Given the description of an element on the screen output the (x, y) to click on. 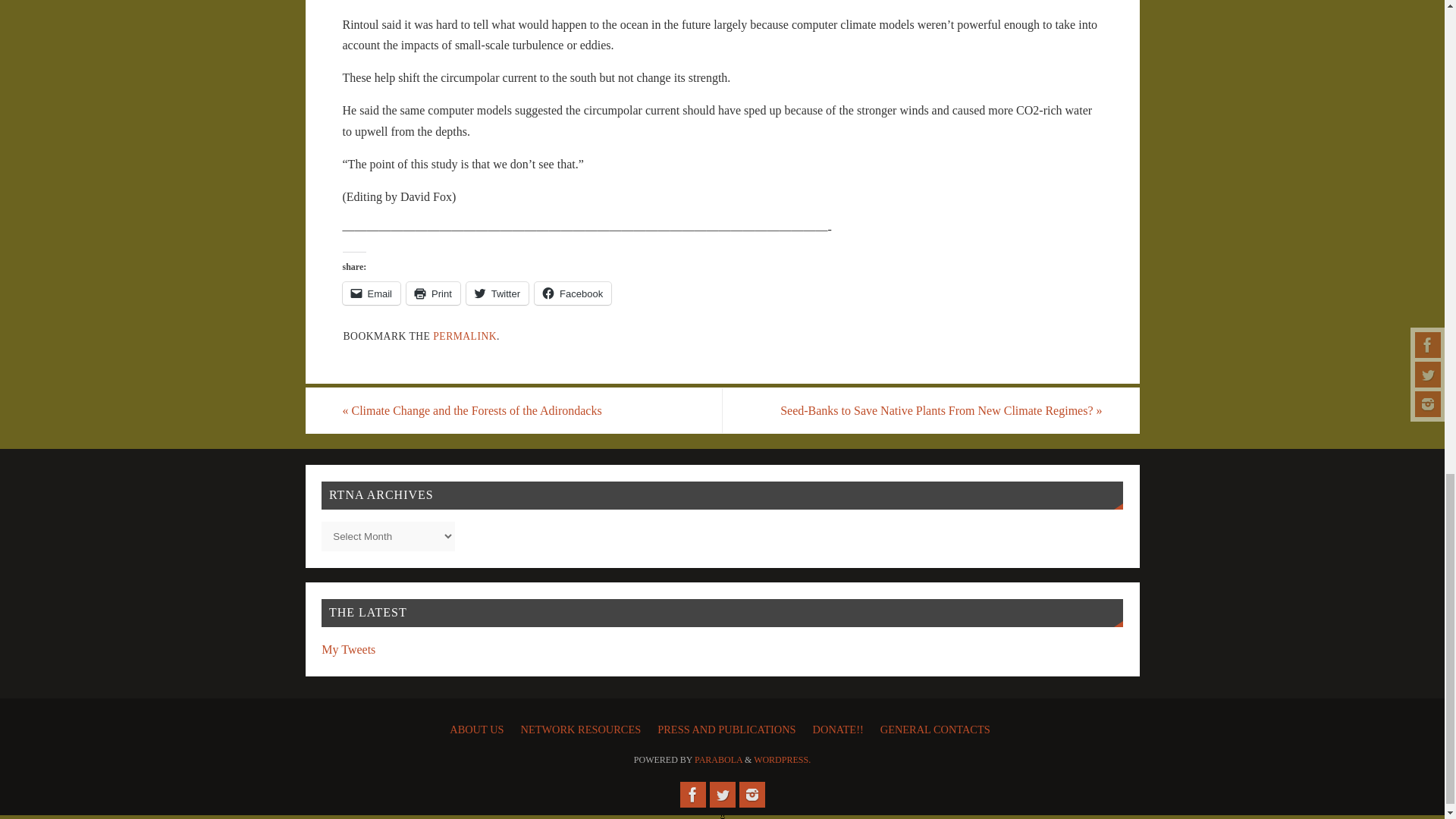
Click to share on Facebook (572, 292)
Parabola Theme by Cryout Creations (718, 759)
Facebook (691, 794)
Twitter (722, 794)
Click to share on Twitter (496, 292)
Semantic Personal Publishing Platform (782, 759)
Click to email a link to a friend (371, 292)
Instagram (751, 794)
Click to print (433, 292)
